Given the description of an element on the screen output the (x, y) to click on. 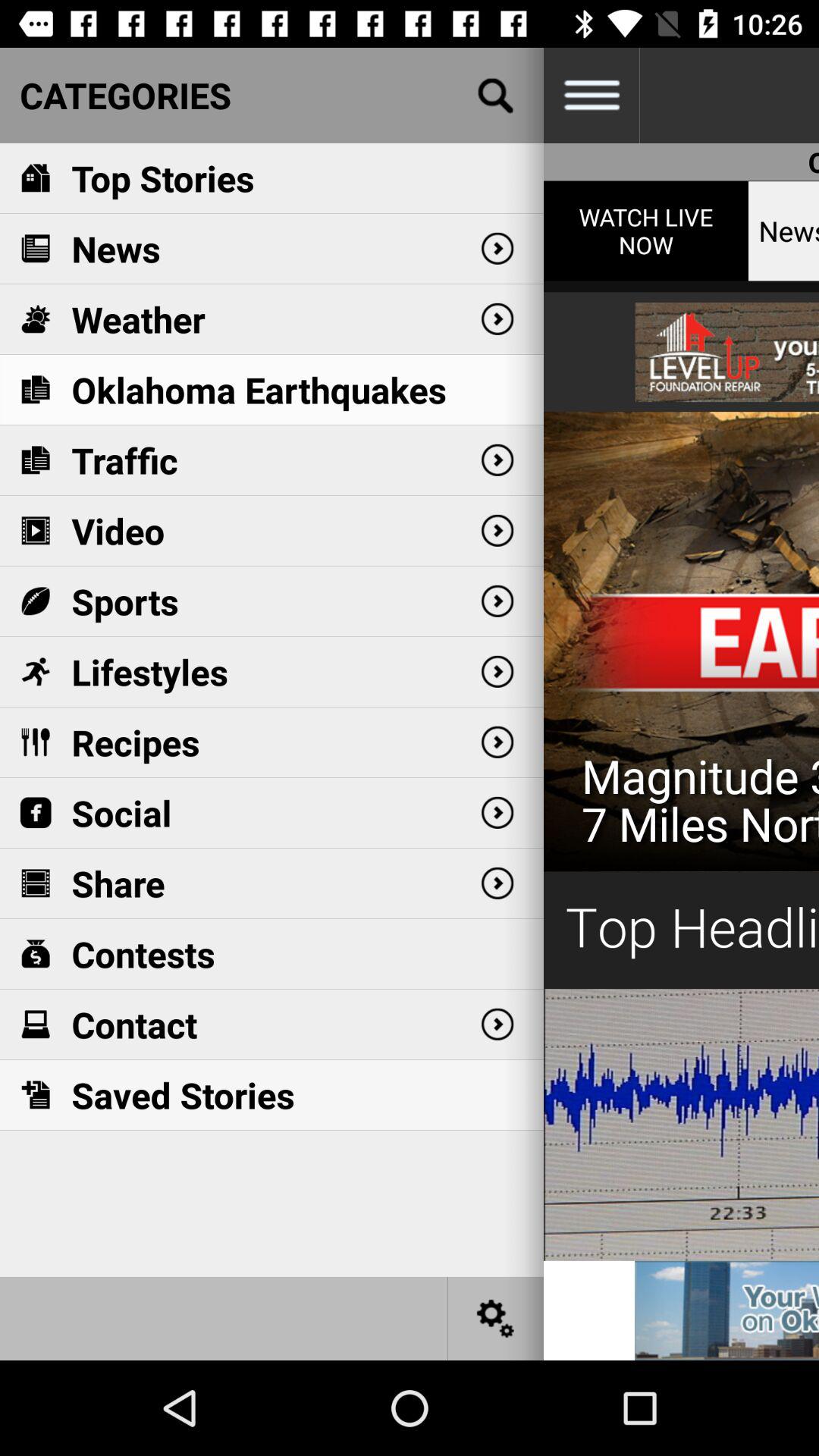
setting (495, 1318)
